Given the description of an element on the screen output the (x, y) to click on. 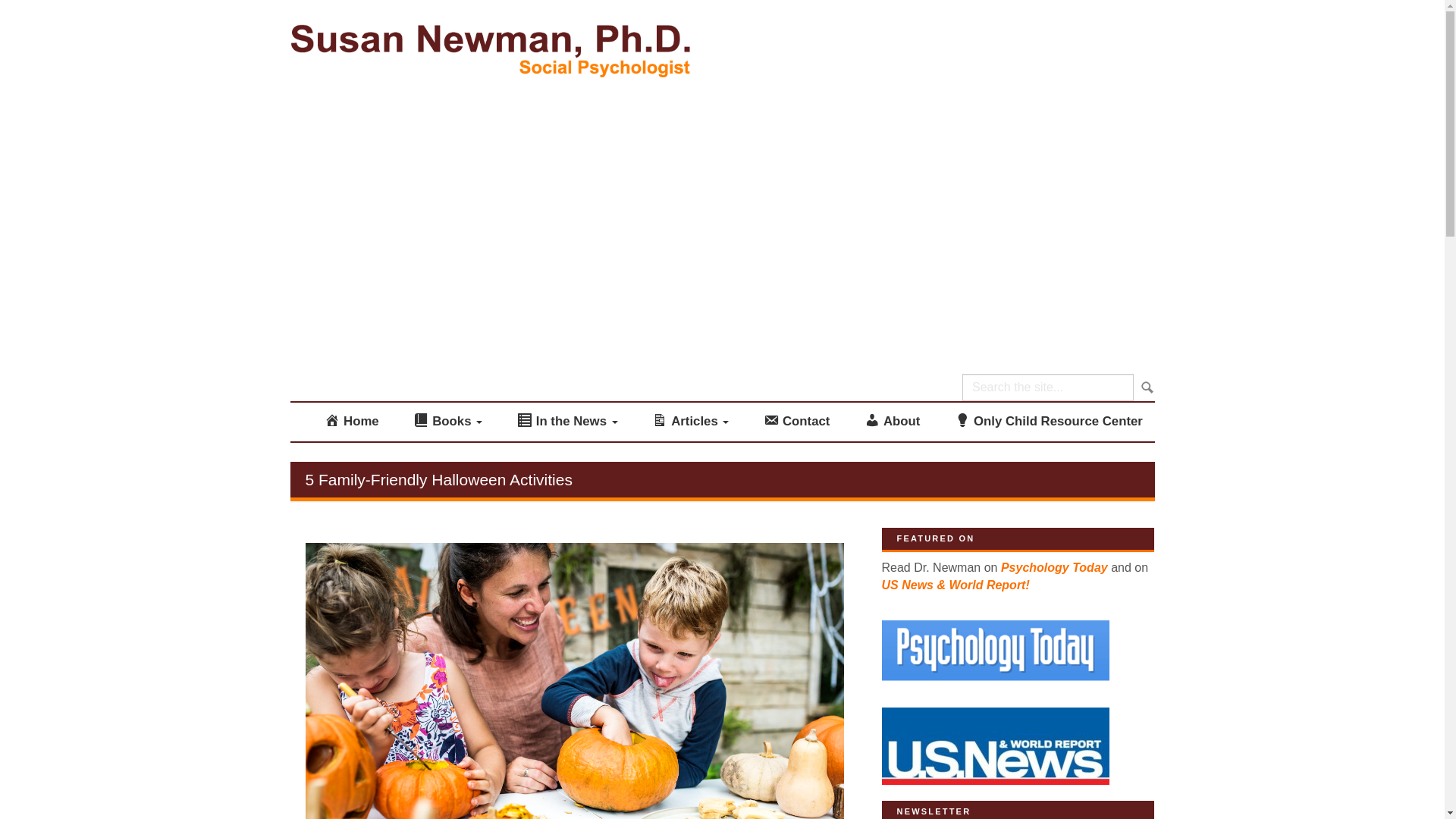
In the News (566, 421)
Search (1145, 387)
 LinkedIn (1066, 308)
Articles (689, 421)
Home (351, 421)
Search (1145, 387)
In the News (566, 421)
 Facebook (1059, 81)
Search (1145, 387)
Only Child Resource Center (1048, 421)
 Twitter (1063, 194)
About (892, 421)
Books (447, 421)
Home (351, 421)
Books (447, 421)
